Given the description of an element on the screen output the (x, y) to click on. 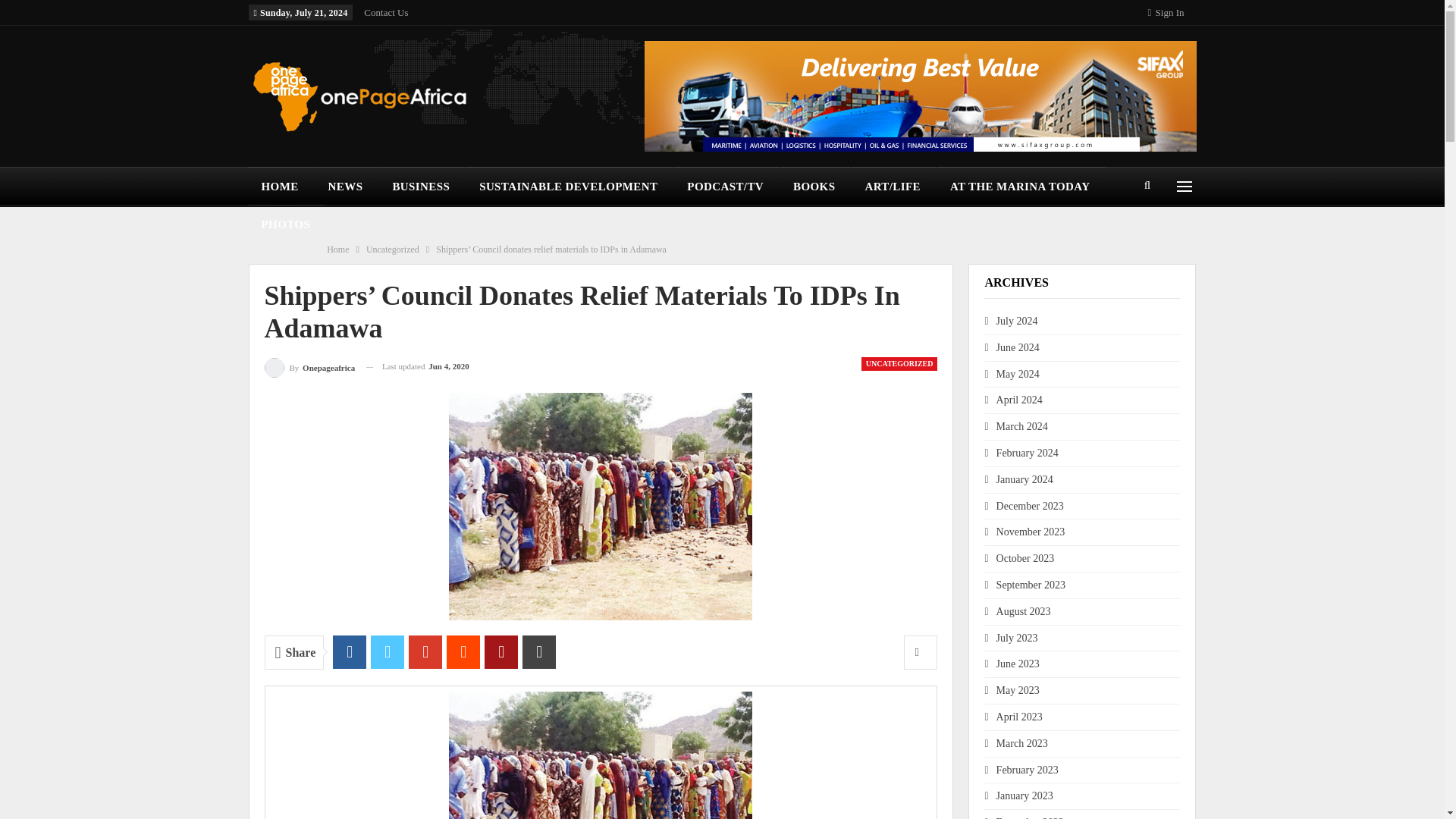
Uncategorized (392, 248)
Sign In (1169, 12)
SUSTAINABLE DEVELOPMENT (568, 186)
Contact Us (385, 12)
NEWS (346, 186)
BOOKS (815, 186)
HOME (281, 186)
By Onepageafrica (309, 366)
Home (337, 248)
AT THE MARINA TODAY (1021, 186)
Browse Author Articles (309, 366)
PHOTOS (287, 224)
UNCATEGORIZED (899, 364)
BUSINESS (421, 186)
